Given the description of an element on the screen output the (x, y) to click on. 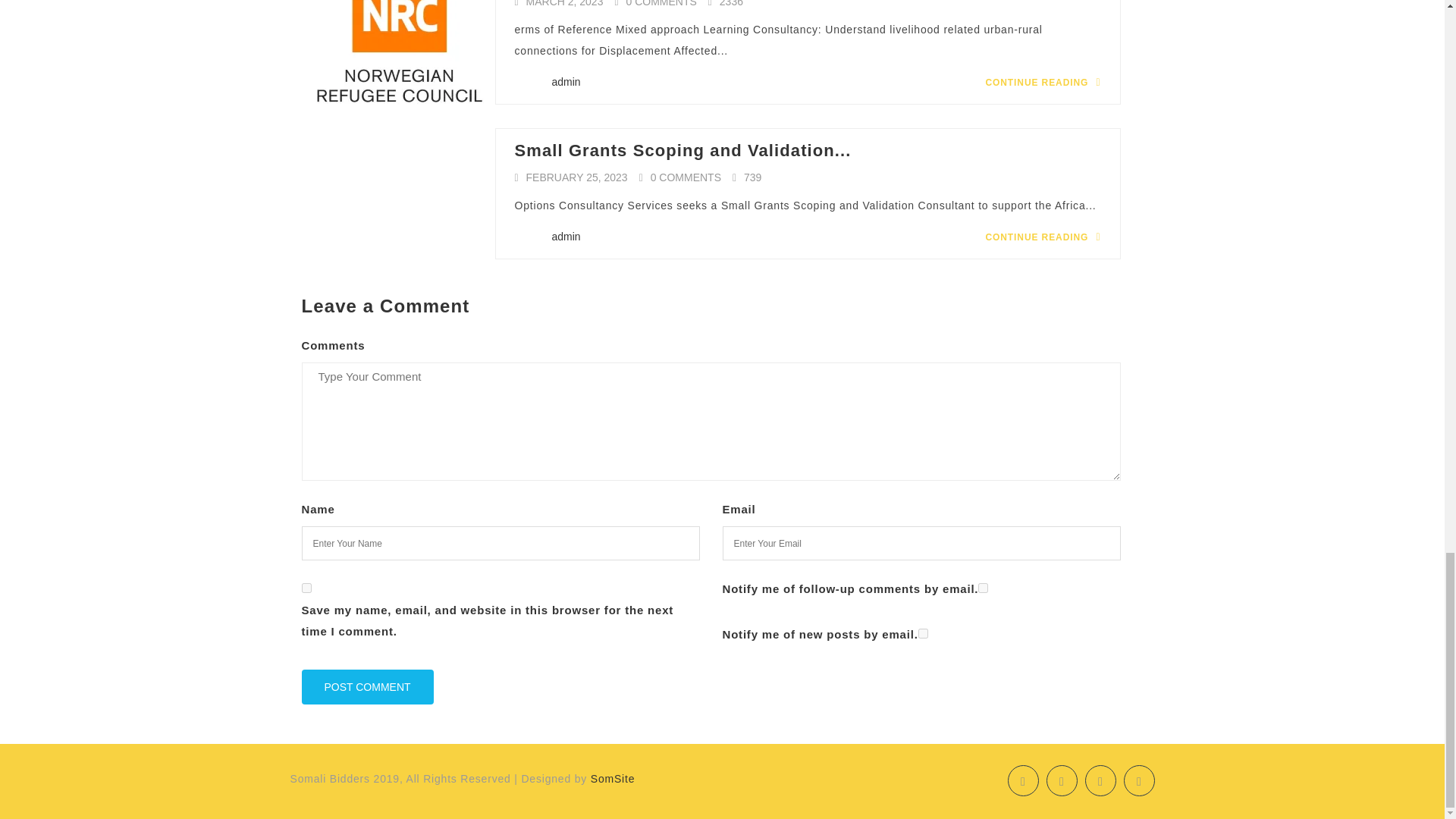
Post Comment (367, 686)
subscribe (923, 633)
subscribe (983, 587)
yes (306, 587)
